Given the description of an element on the screen output the (x, y) to click on. 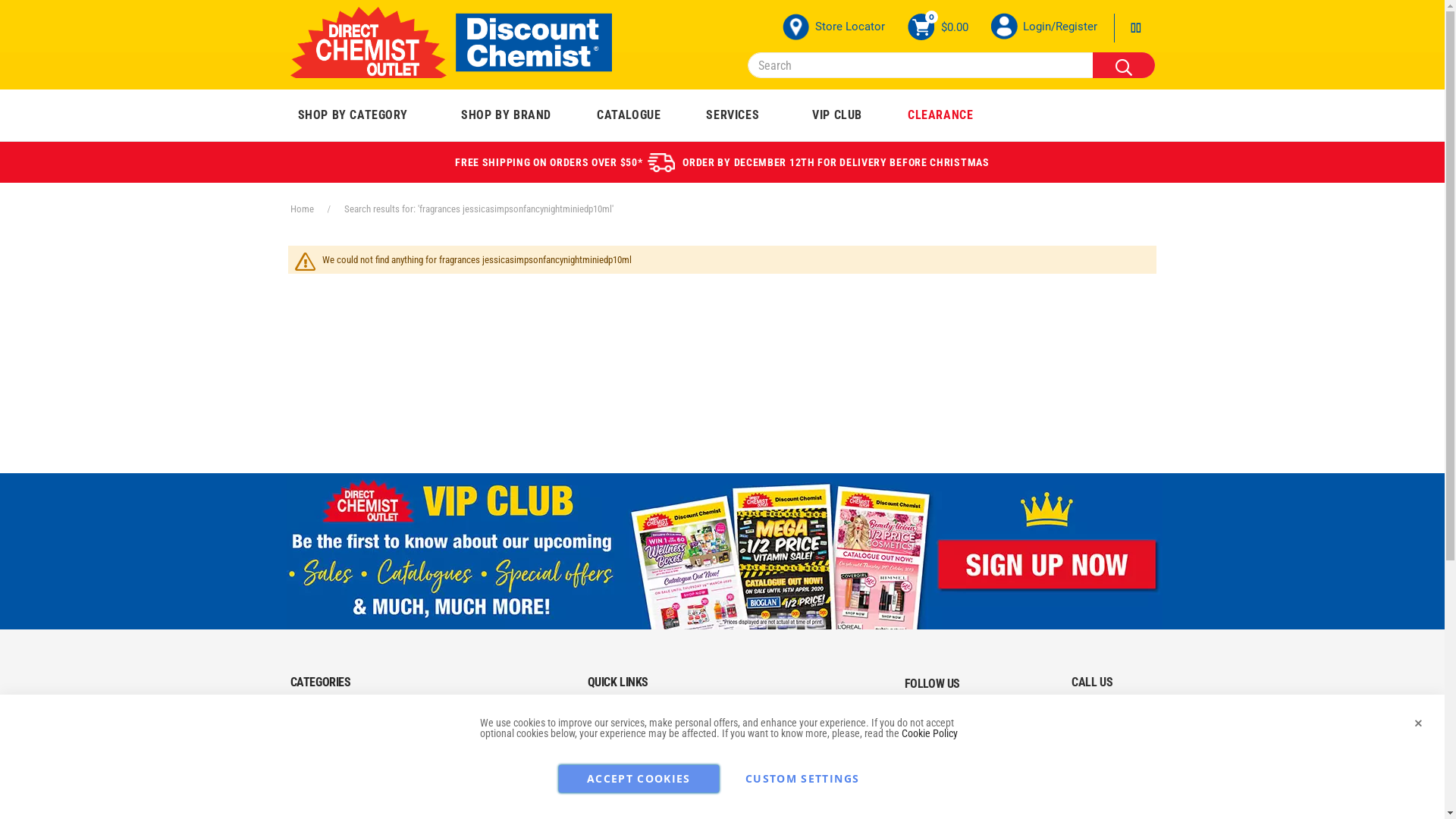
  Element type: text (923, 732)
Diet & Nutrition Element type: text (471, 743)
FREE SHIPPING ON ORDERS OVER $50* Element type: text (548, 161)
VIP CLUB Element type: text (836, 115)
Close Element type: text (1418, 722)
Careers Element type: text (601, 771)
Search Element type: hover (1123, 65)
Dco Element type: hover (450, 42)
Returns Policy Element type: text (763, 771)
Home Element type: text (301, 208)
Household Element type: text (462, 798)
  Element type: text (1013, 732)
SHOP BY CATEGORY Element type: text (353, 115)
Cookie Policy Element type: text (928, 733)
Skip to Content Element type: text (1154, 26)
Medicines Element type: text (312, 716)
CATALOGUE Element type: text (628, 115)
Terms & Conditions Element type: text (774, 716)
Competitions Element type: text (762, 798)
Store Locator Element type: text (833, 26)
0
$0.00 Element type: text (936, 26)
  Element type: text (968, 732)
Contact Us Element type: text (607, 743)
Login/Register Element type: text (1059, 26)
Vitamins Element type: text (309, 743)
Sexual Health Element type: text (468, 771)
Privacy Policy Element type: text (762, 743)
Baby Care Element type: text (461, 716)
Fragrance Element type: text (312, 771)
CLEARANCE Element type: text (940, 115)
About Us Element type: text (604, 716)
Beauty Element type: text (305, 798)
SHOP BY BRAND Element type: text (505, 115)
ACCEPT COOKIES Element type: text (638, 778)
CUSTOM SETTINGS Element type: text (801, 778)
Pharmacy Services Element type: text (625, 798)
SERVICES Element type: text (732, 115)
